Given the description of an element on the screen output the (x, y) to click on. 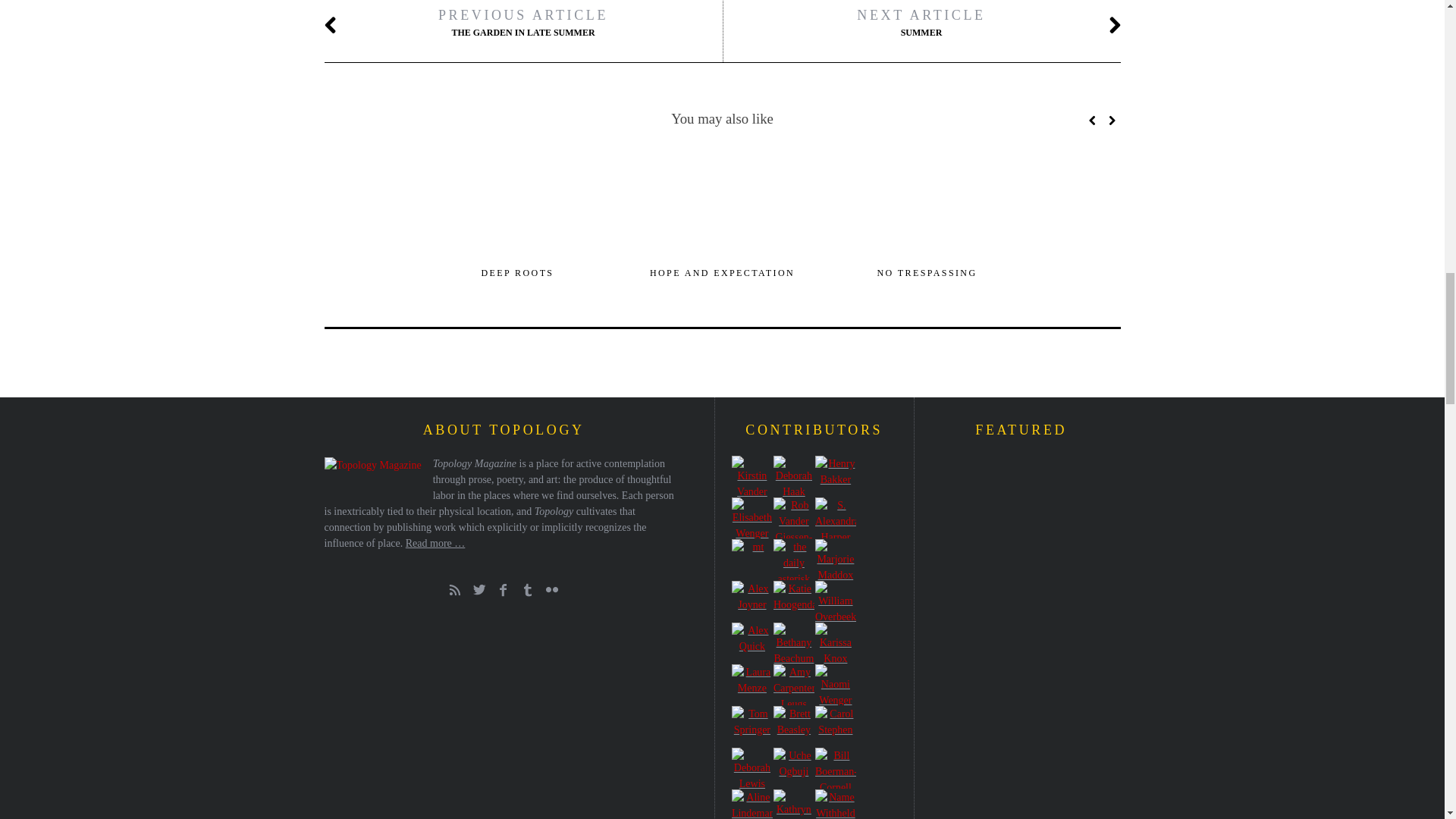
Kirstin Vander Giessen-Reitsma (752, 475)
William Overbeeke (835, 600)
Alex Quick (752, 642)
Elisabeth Wenger (752, 517)
Alex Joyner (752, 600)
Henry Bakker (835, 475)
Marjorie Maddox (835, 558)
mt (752, 558)
Rob Vander Giessen-Reitsma (793, 517)
Katie Hoogendam (793, 600)
